Given the description of an element on the screen output the (x, y) to click on. 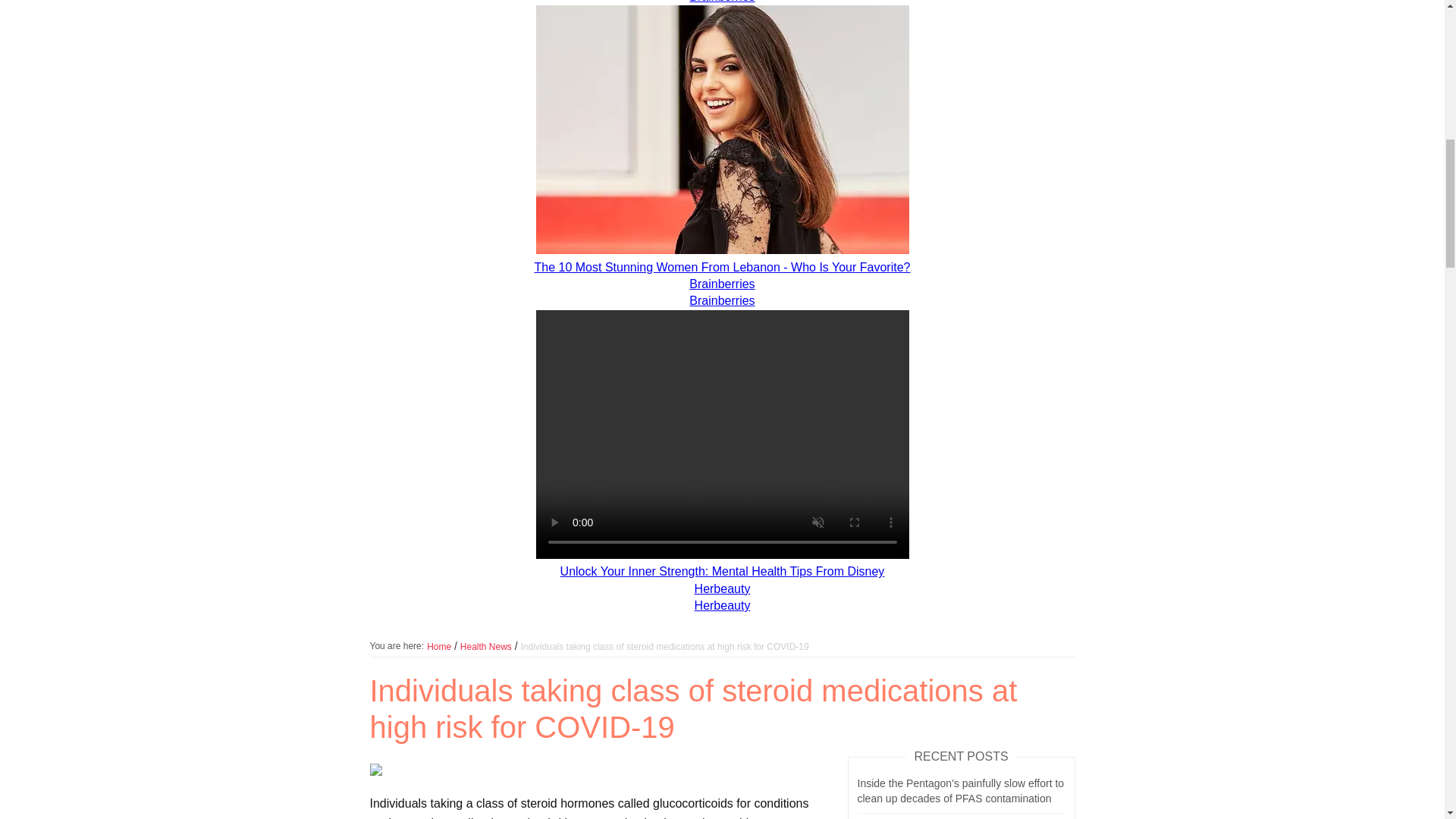
Health News (486, 646)
Home (438, 646)
